Given the description of an element on the screen output the (x, y) to click on. 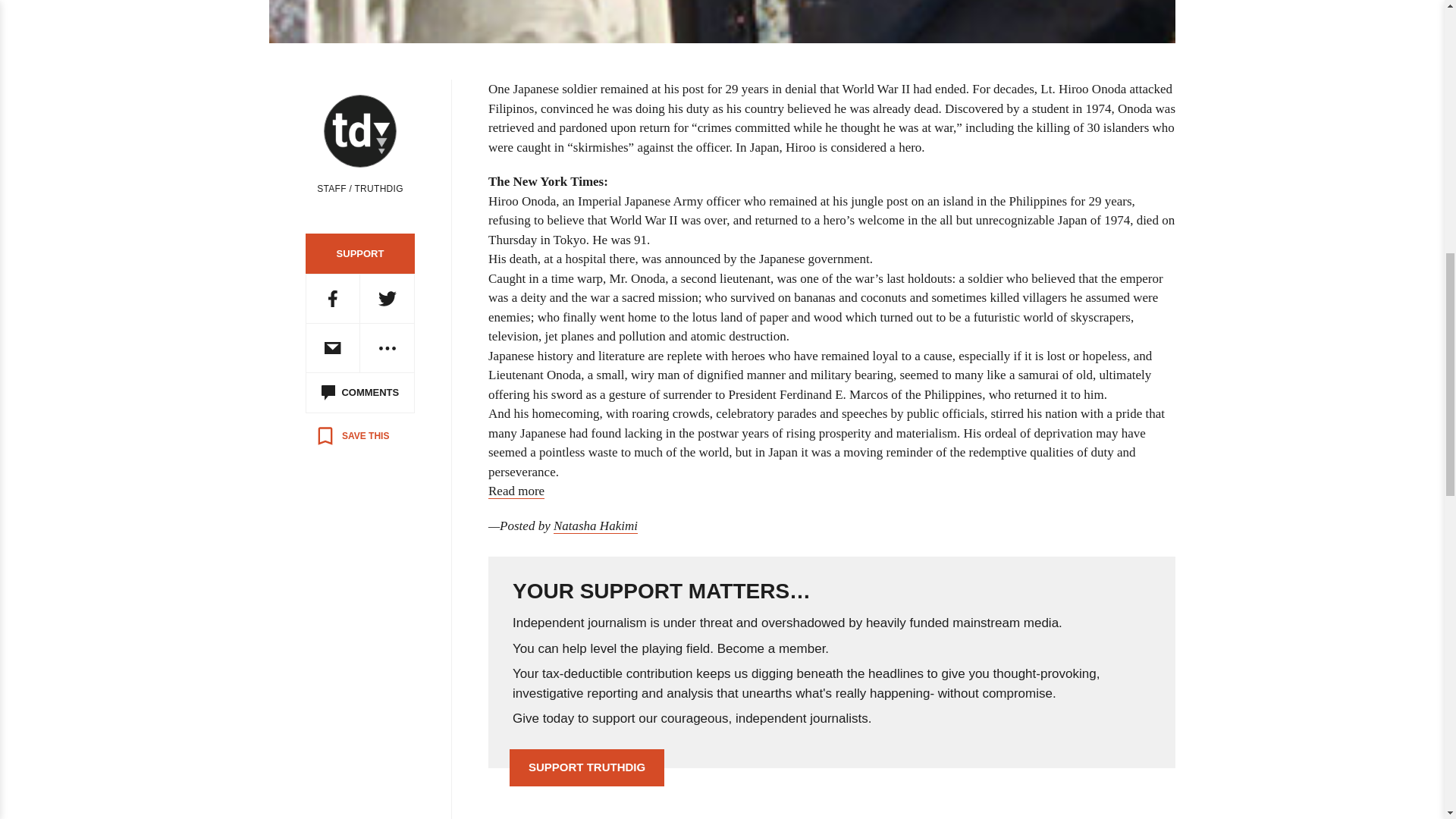
Save to read later (351, 435)
Read More. (515, 491)
Natasha Hakimi (595, 525)
